Given the description of an element on the screen output the (x, y) to click on. 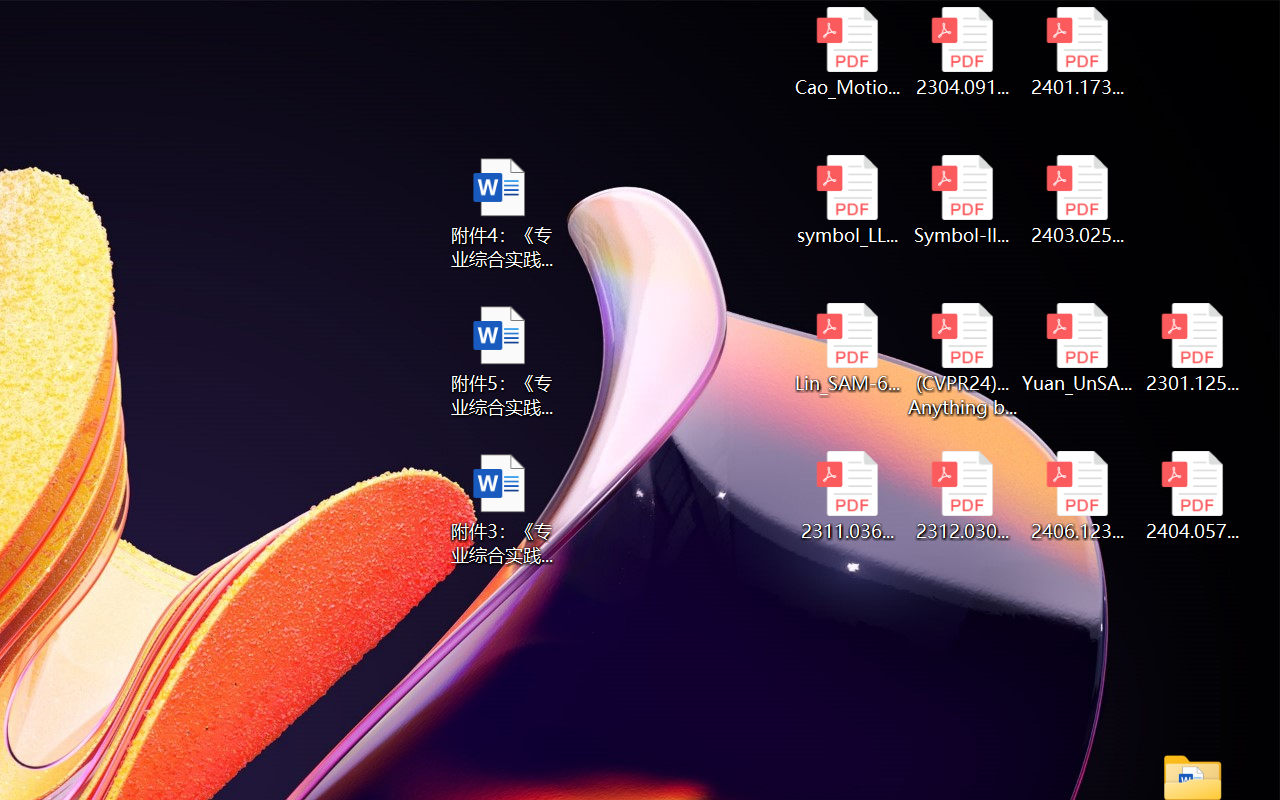
(CVPR24)Matching Anything by Segmenting Anything.pdf (962, 360)
